Given the description of an element on the screen output the (x, y) to click on. 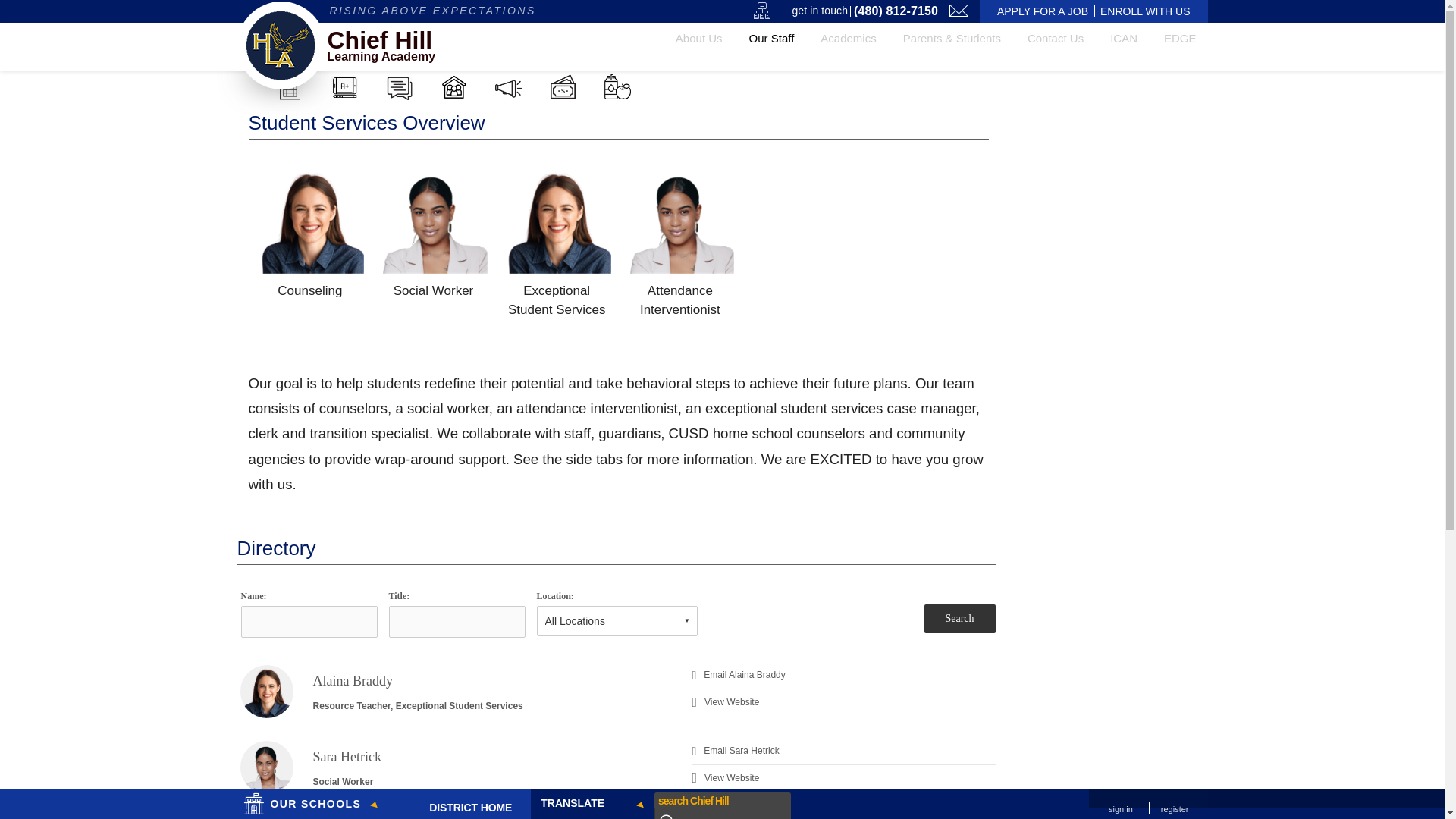
connect with us (398, 86)
grades portal (343, 86)
Email Us (958, 10)
menus and lunch money (617, 86)
Search Term (708, 799)
tax credit (561, 86)
Return to the homepage on the district site. (467, 805)
our brags (508, 86)
calendar (289, 86)
Site Map (762, 10)
Chief Hill Learning Academy (280, 44)
community education (452, 86)
